Given the description of an element on the screen output the (x, y) to click on. 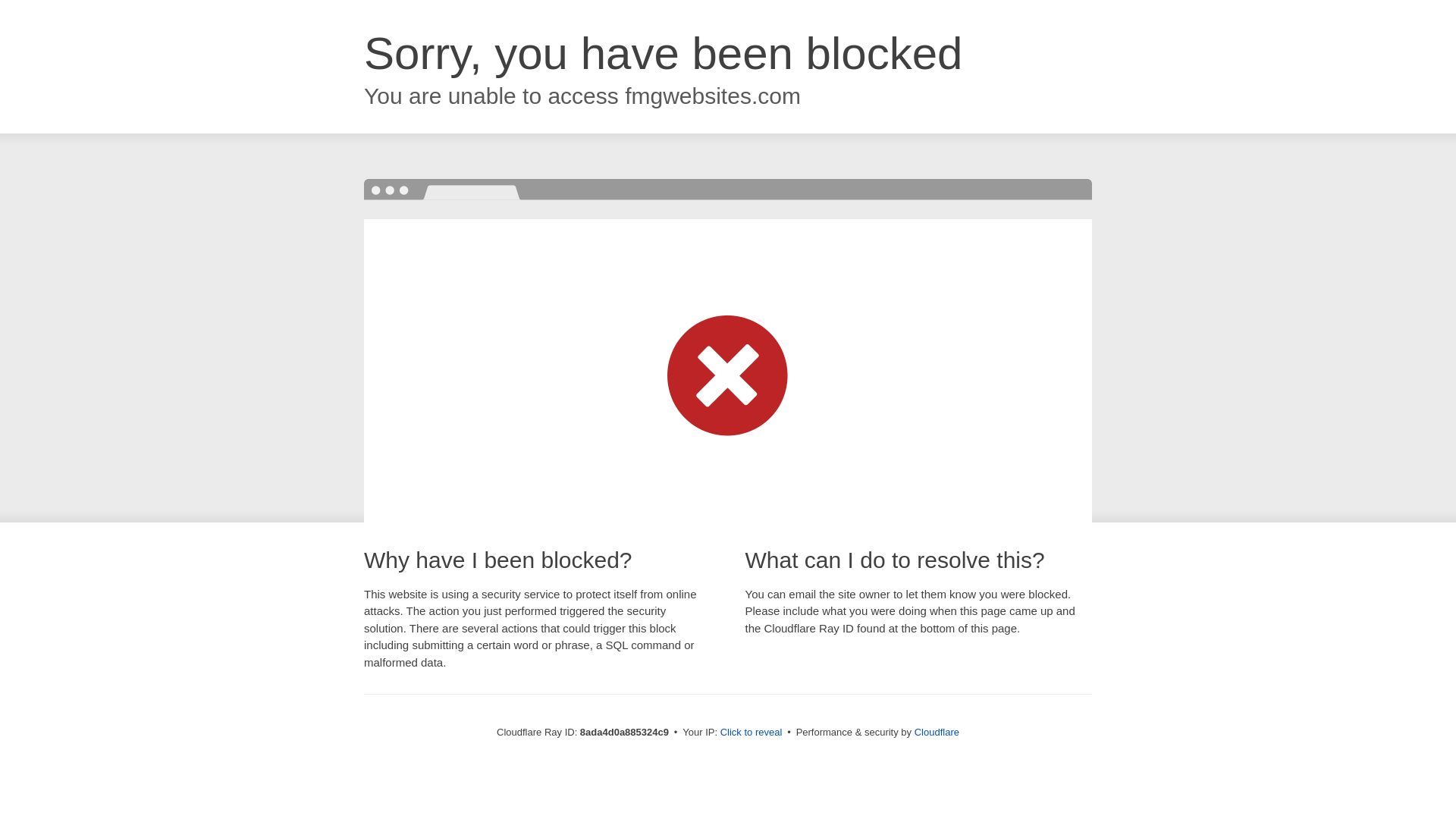
Cloudflare (936, 731)
Click to reveal (751, 732)
